Given the description of an element on the screen output the (x, y) to click on. 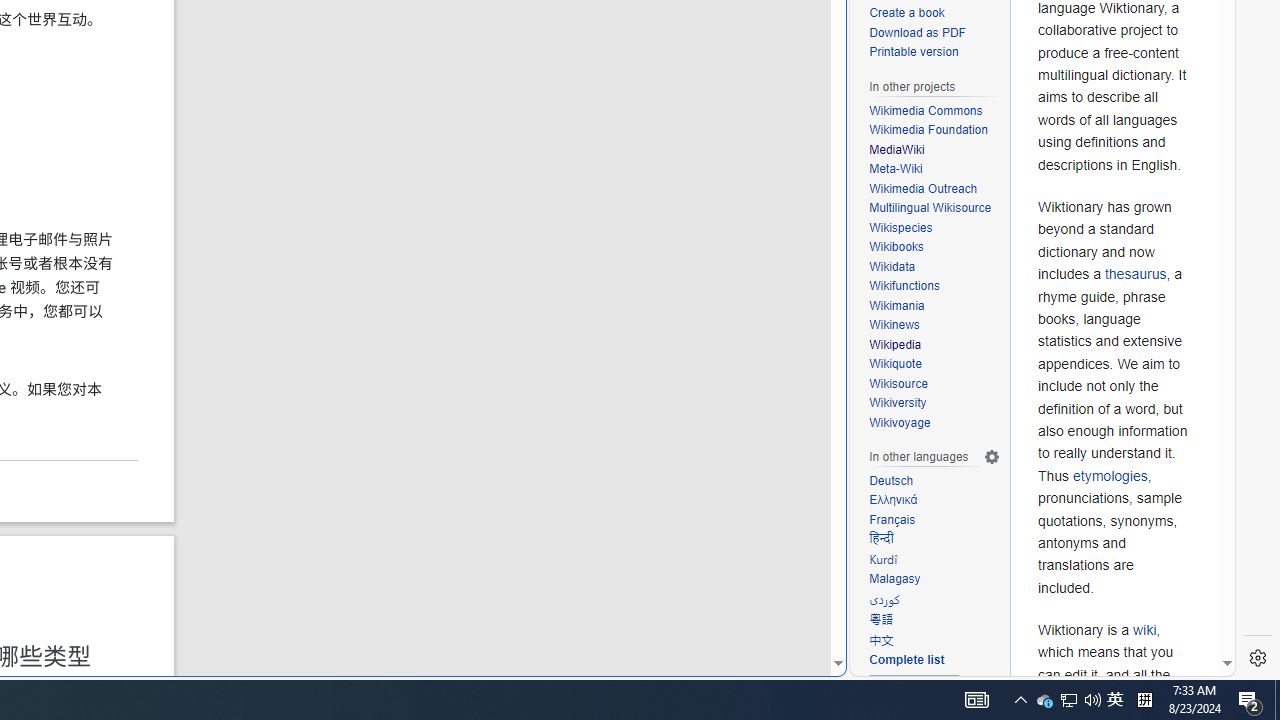
Wikinews (934, 326)
MediaWiki (934, 150)
Wikimedia Foundation (928, 130)
Download as PDF (917, 32)
Wikivoyage (934, 423)
Create a book (934, 13)
Global web icon (888, 663)
Wikipedia (934, 344)
MSN (687, 223)
